Given the description of an element on the screen output the (x, y) to click on. 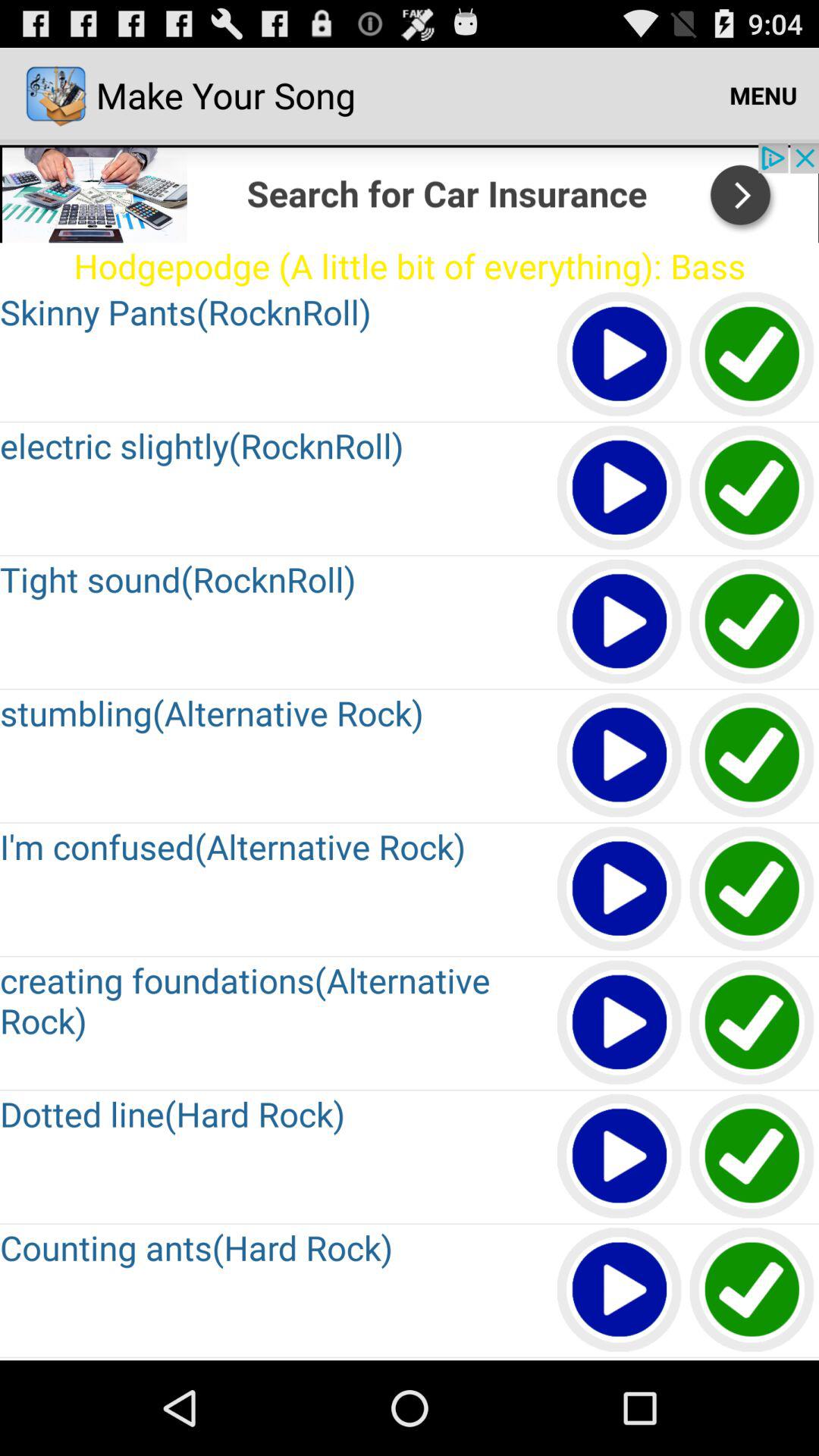
tick (752, 1290)
